Given the description of an element on the screen output the (x, y) to click on. 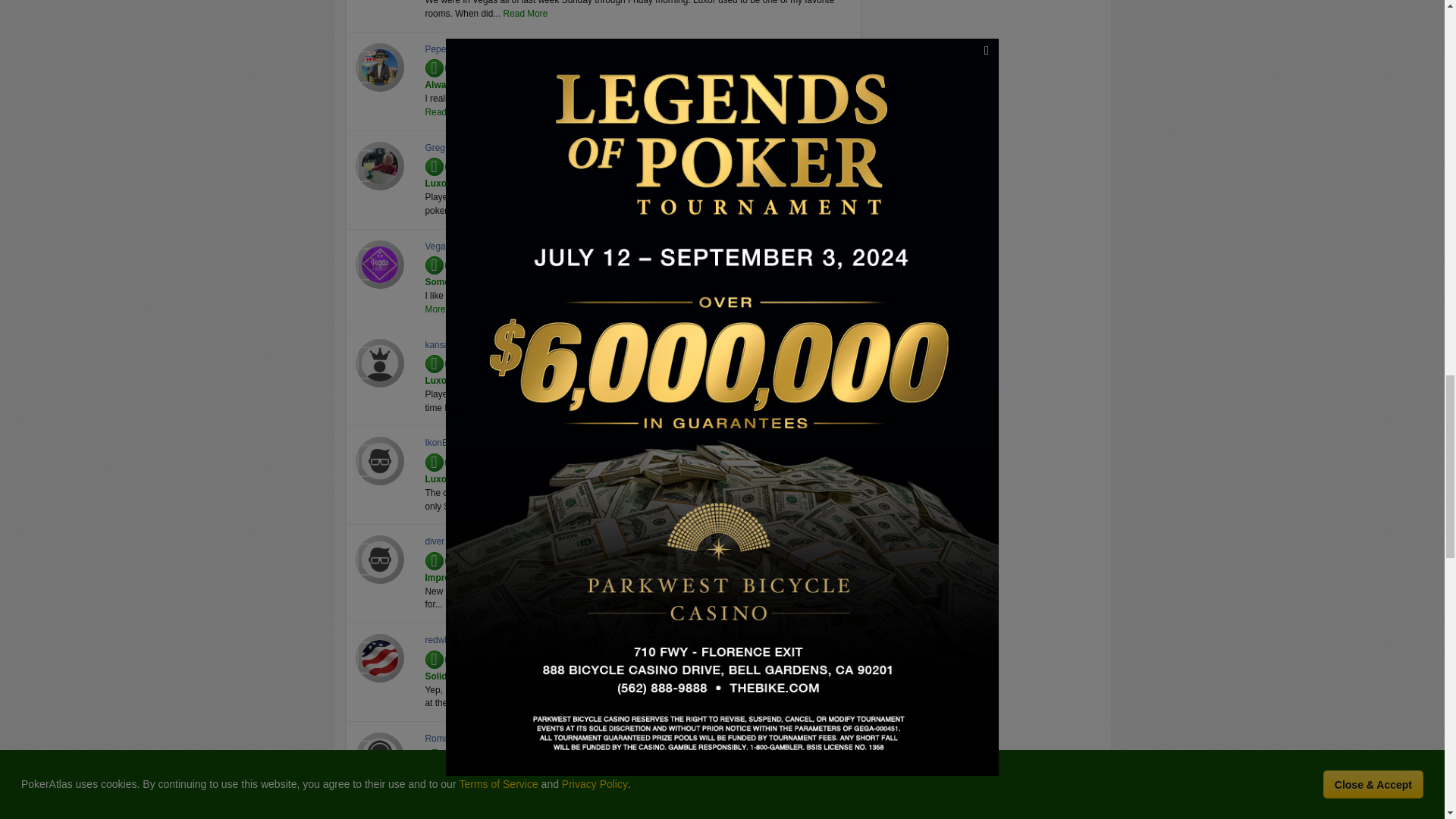
Jul 31, 2015 (553, 64)
Aug 26, 2014 (556, 360)
Mar 3, 2014 (587, 557)
Jan 14, 2014 (554, 656)
Mar 3, 2015 (552, 163)
Aug 24, 2014 (556, 459)
Jun 14, 2013 (589, 755)
Nov 10, 2014 (556, 262)
